Given the description of an element on the screen output the (x, y) to click on. 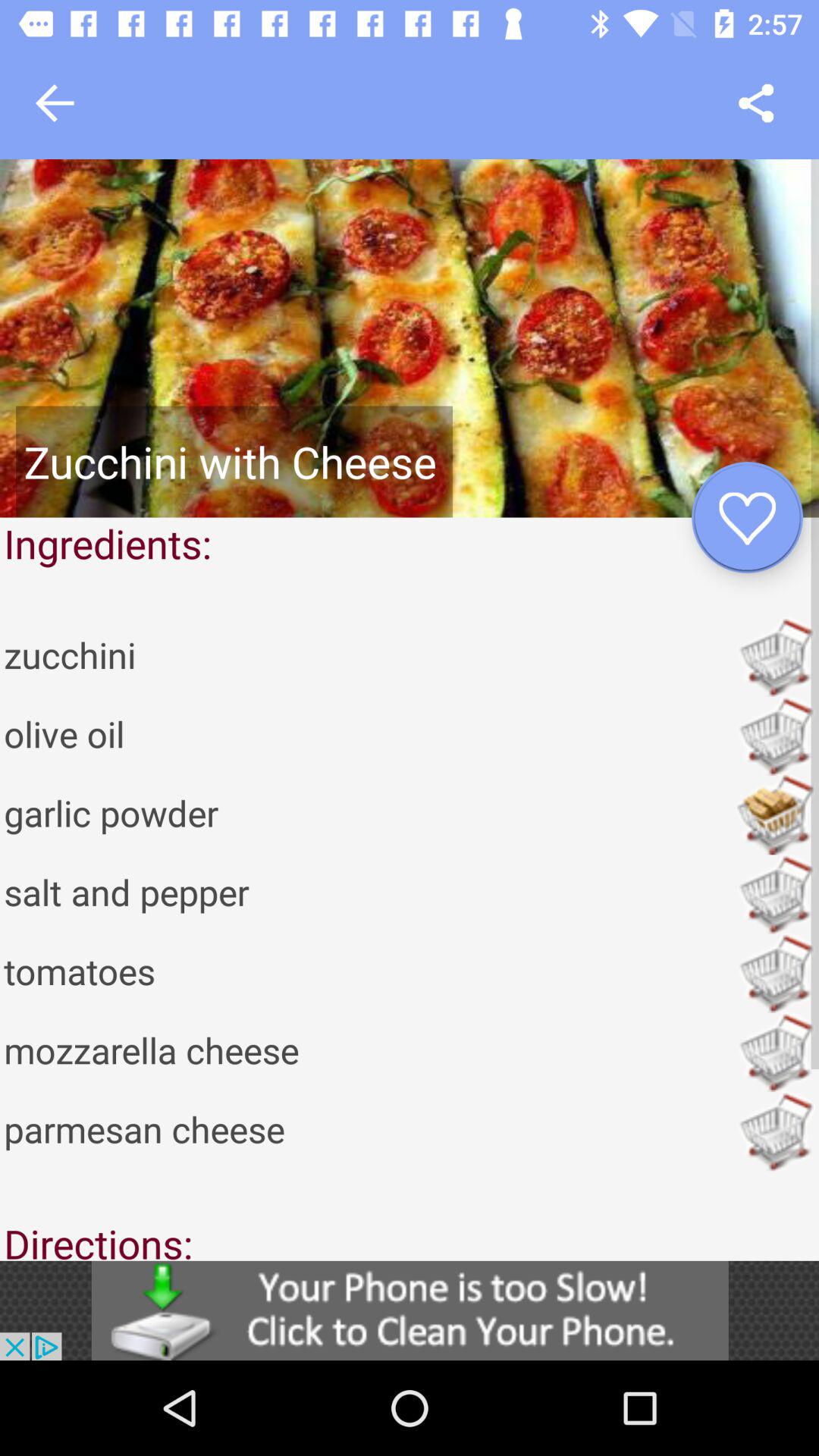
share option (756, 103)
